Given the description of an element on the screen output the (x, y) to click on. 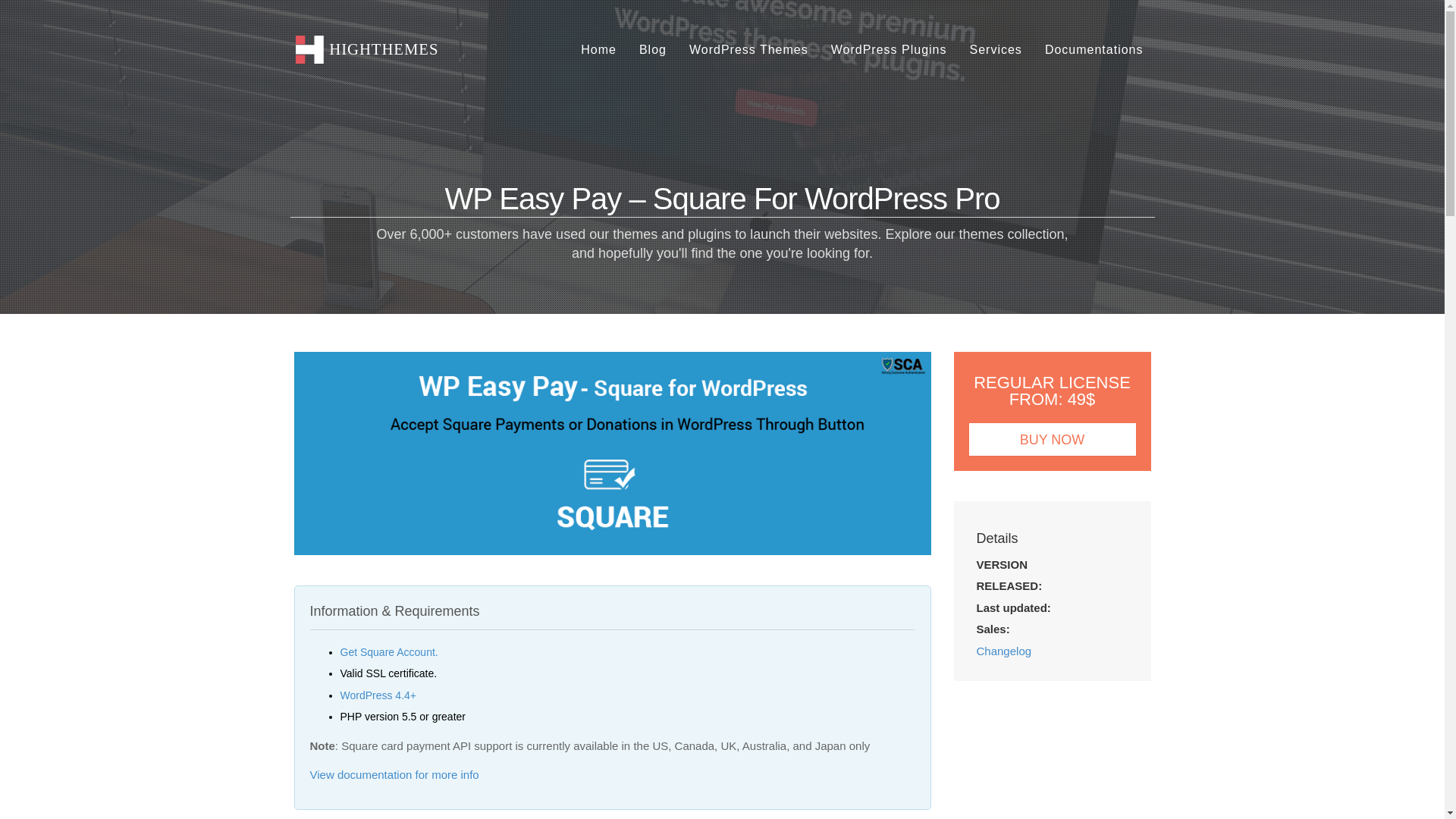
Blog (652, 50)
View documentation for more info (393, 774)
HIGHTHEMES (362, 57)
WordPress Plugins (889, 50)
HIGHTHEMES (362, 49)
Services (995, 50)
Get Square Account. (388, 652)
Home (598, 50)
Changelog (1004, 650)
WordPress Themes (748, 50)
